Given the description of an element on the screen output the (x, y) to click on. 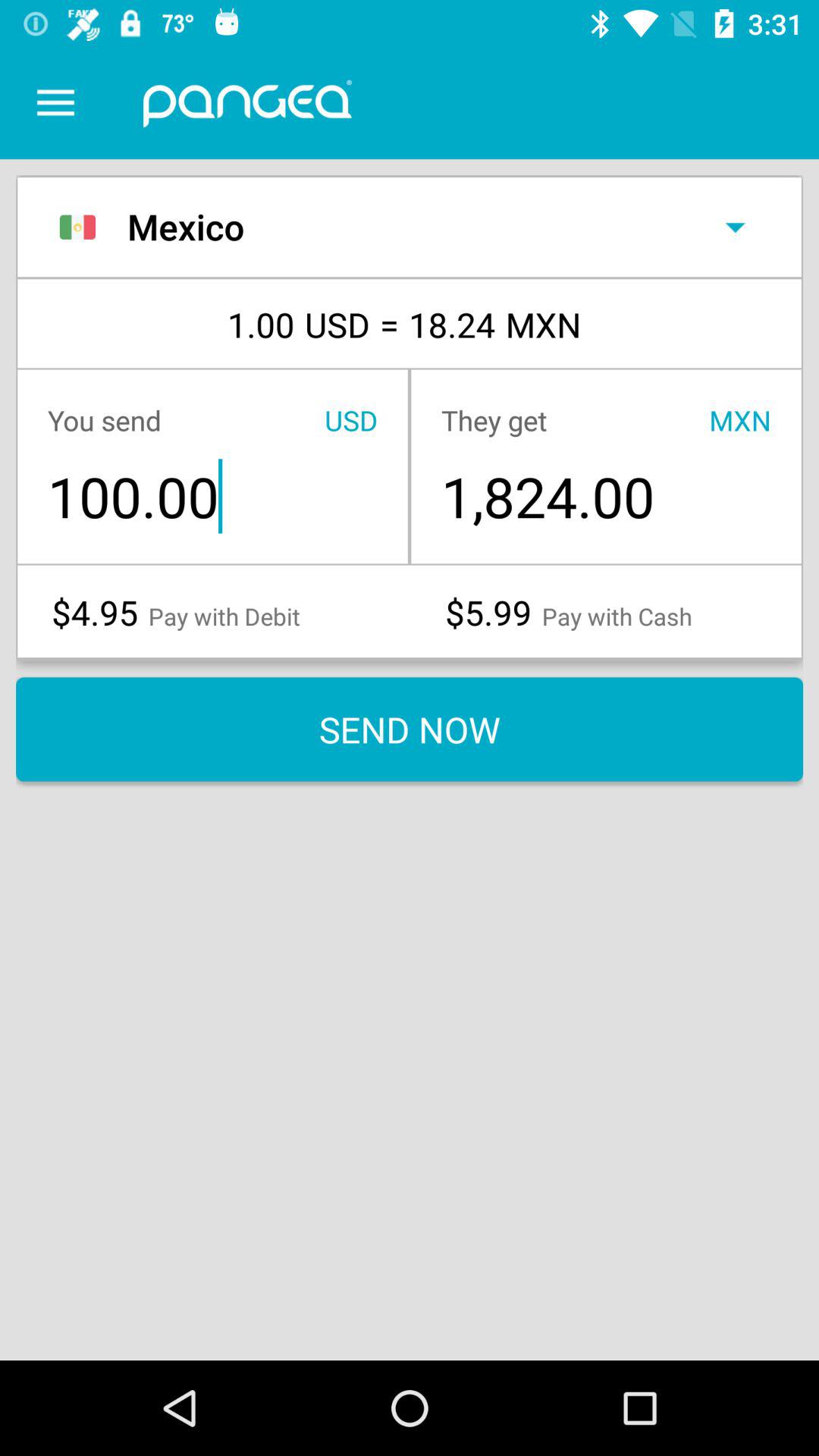
tap item above $5.99 icon (606, 495)
